Given the description of an element on the screen output the (x, y) to click on. 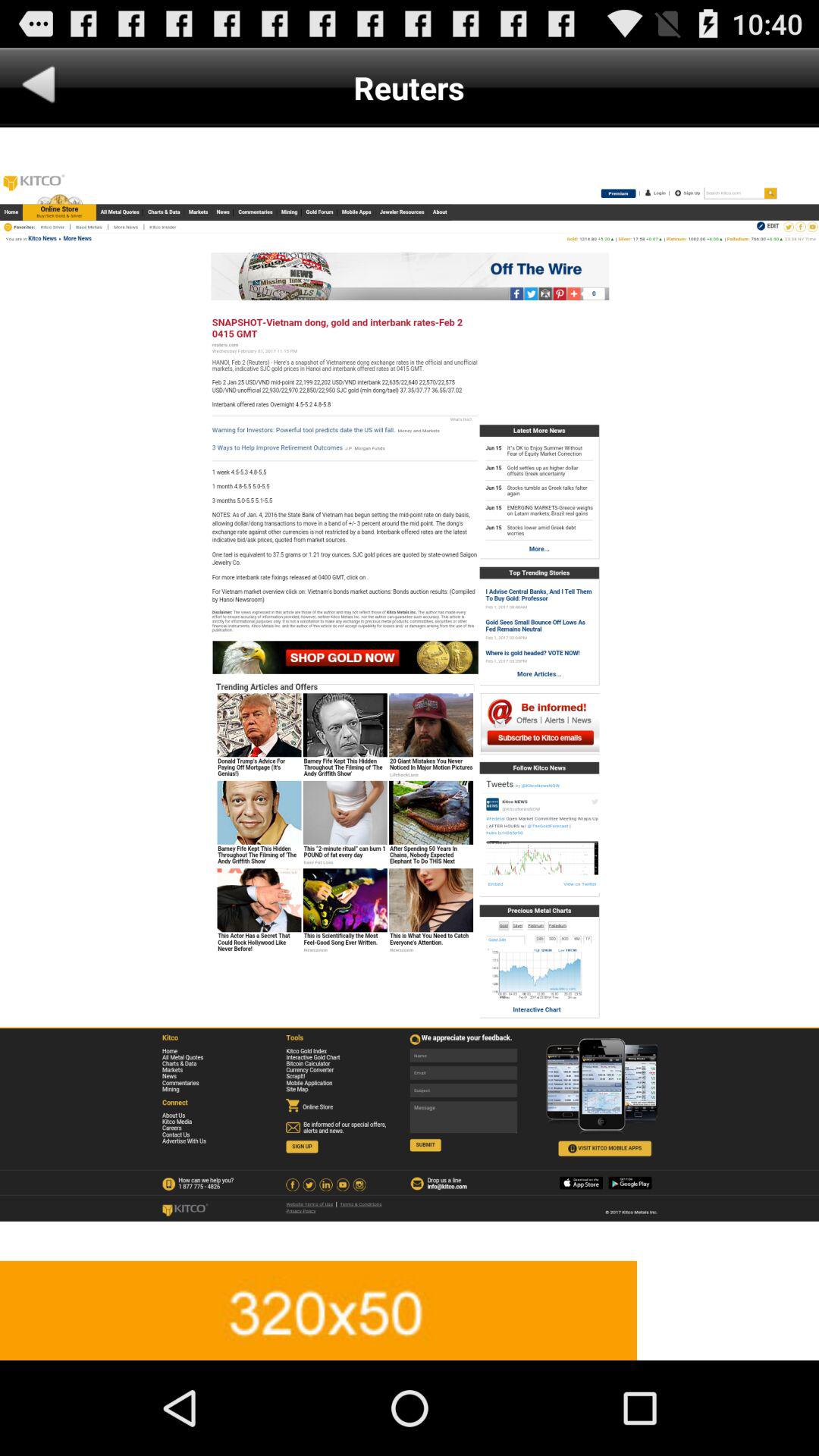
change advertisement size (409, 1310)
